Given the description of an element on the screen output the (x, y) to click on. 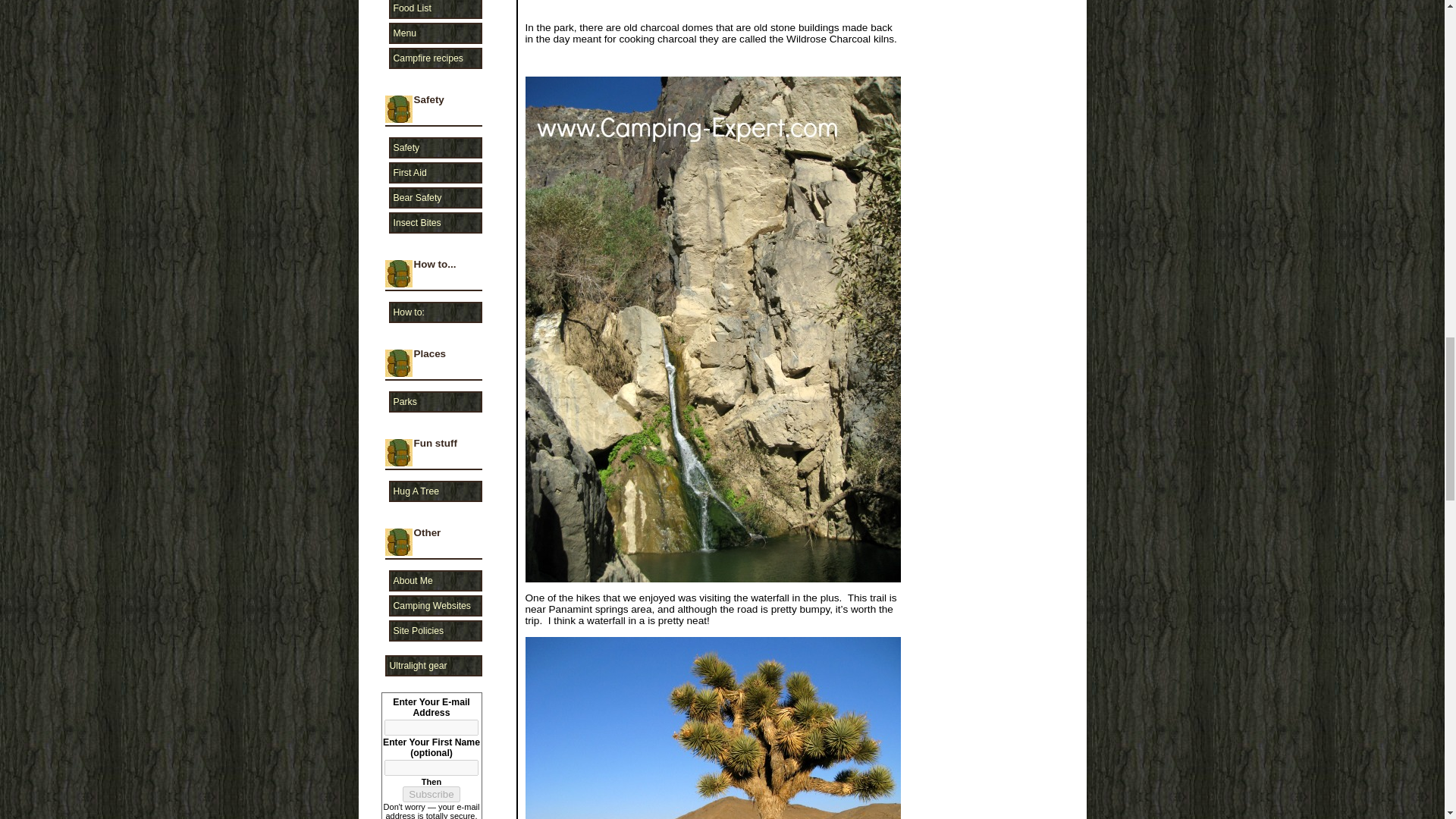
Subscribe (431, 794)
